Given the description of an element on the screen output the (x, y) to click on. 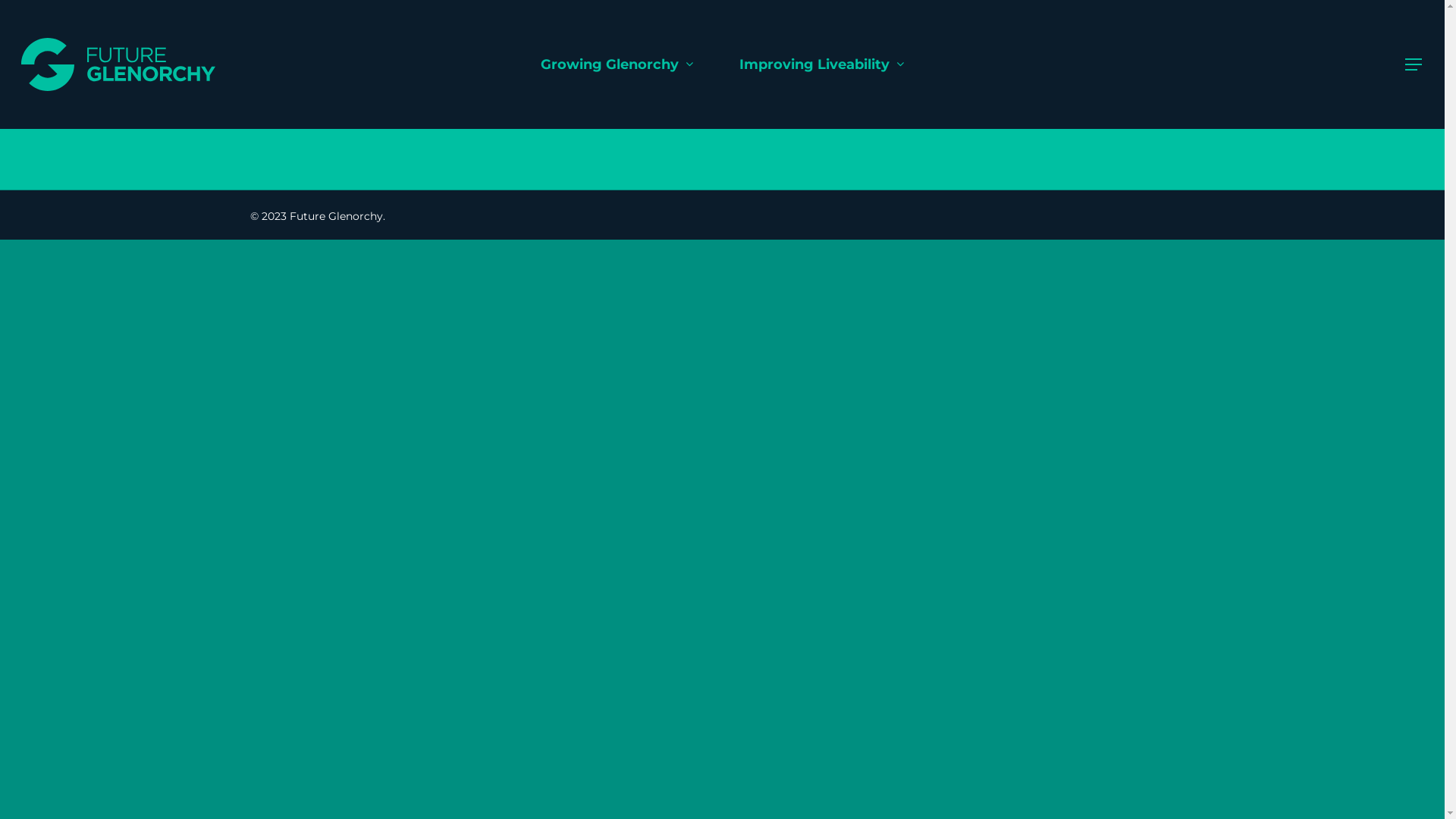
Growing Glenorchy Element type: text (616, 64)
Improving Liveability Element type: text (820, 64)
